Given the description of an element on the screen output the (x, y) to click on. 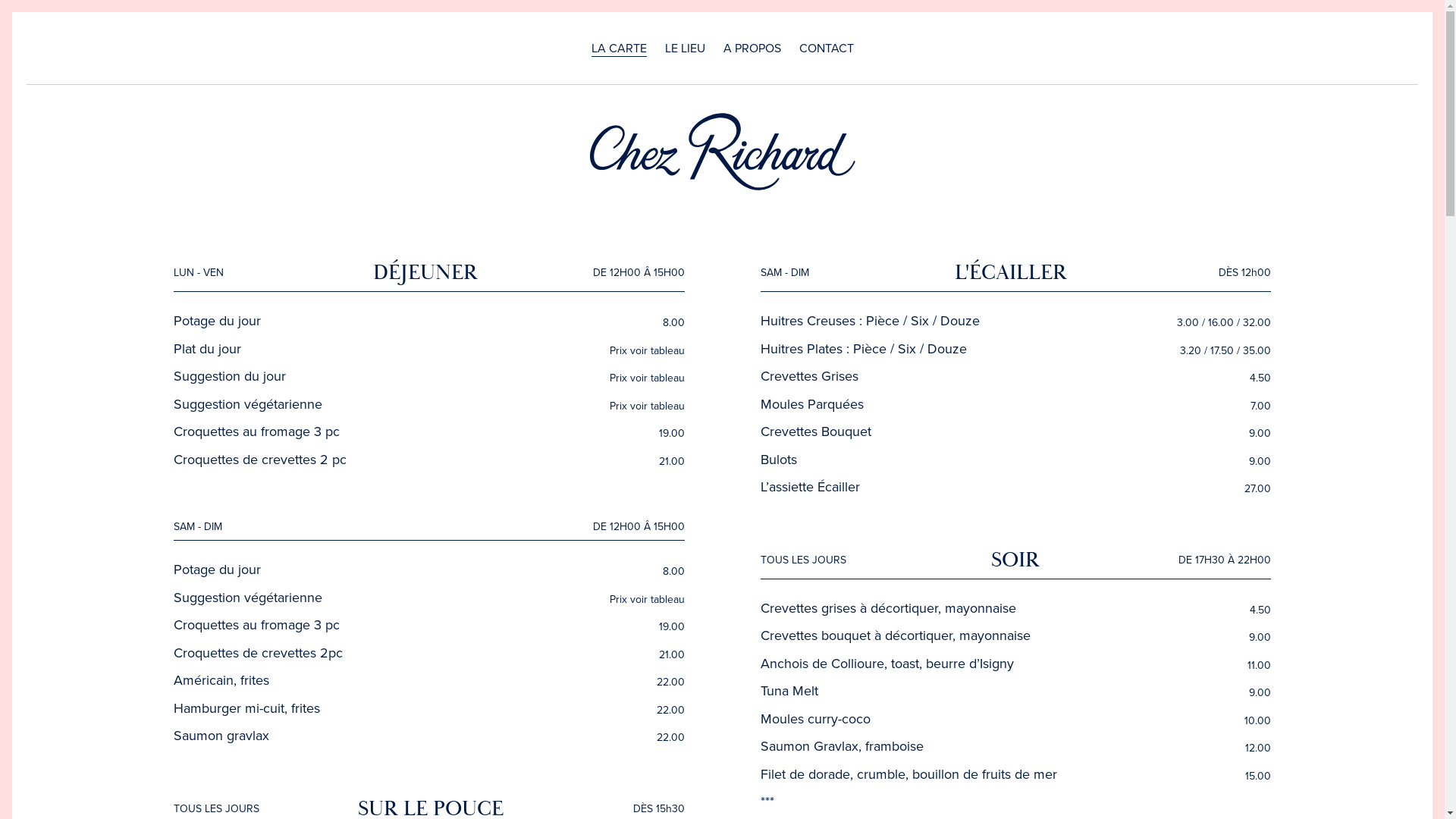
LA CARTE Element type: text (618, 48)
CONTACT Element type: text (826, 48)
A PROPOS Element type: text (752, 48)
LE LIEU Element type: text (684, 48)
